Given the description of an element on the screen output the (x, y) to click on. 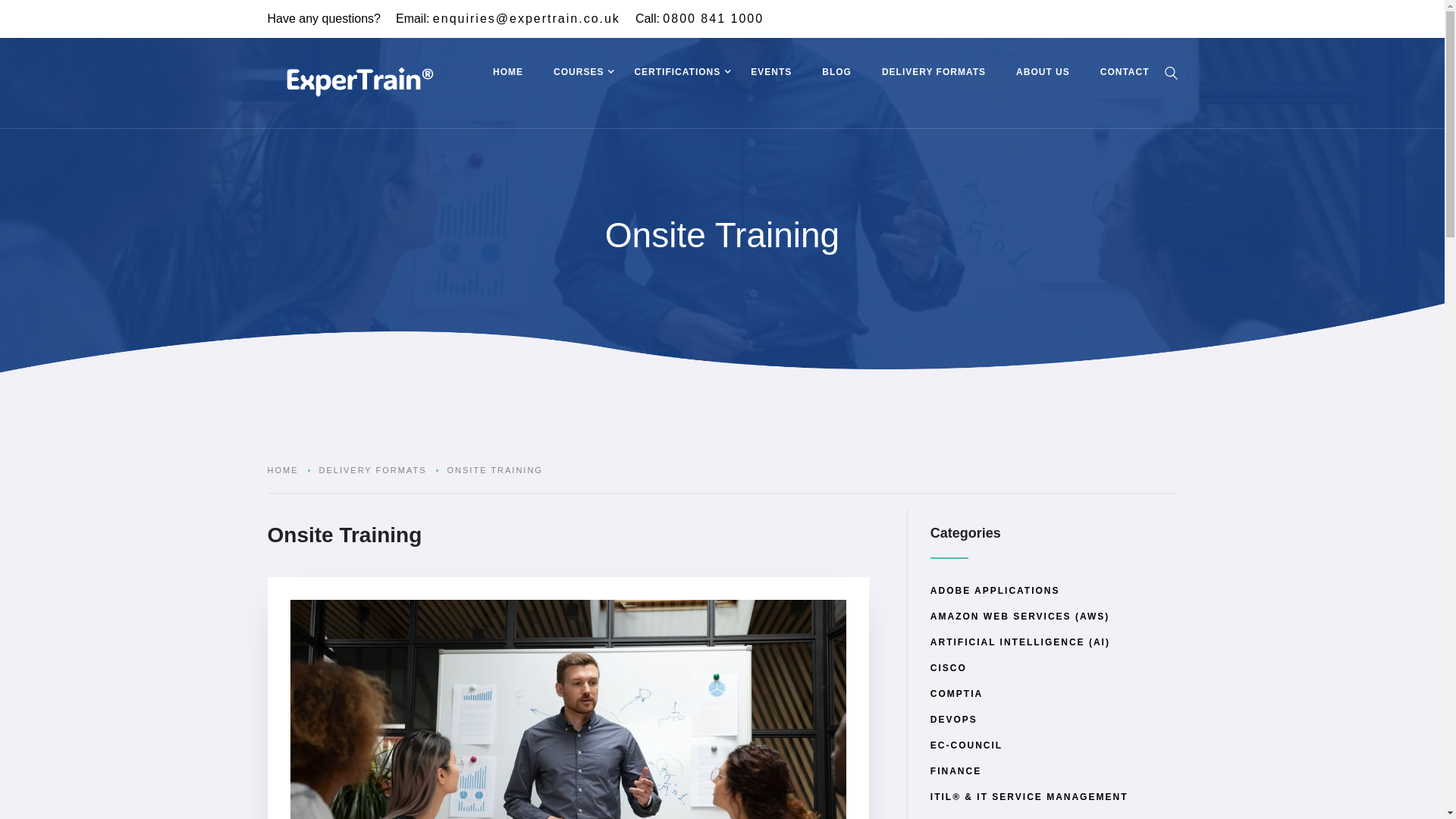
HOME (507, 73)
DEVOPS (953, 723)
0800 841 1000 (712, 18)
ABOUT US (1042, 73)
EVENTS (770, 73)
DELIVERY FORMATS (933, 73)
CONTACT (1124, 73)
ONSITE TRAINING (494, 469)
COMPTIA (956, 697)
FINANCE (955, 774)
